Given the description of an element on the screen output the (x, y) to click on. 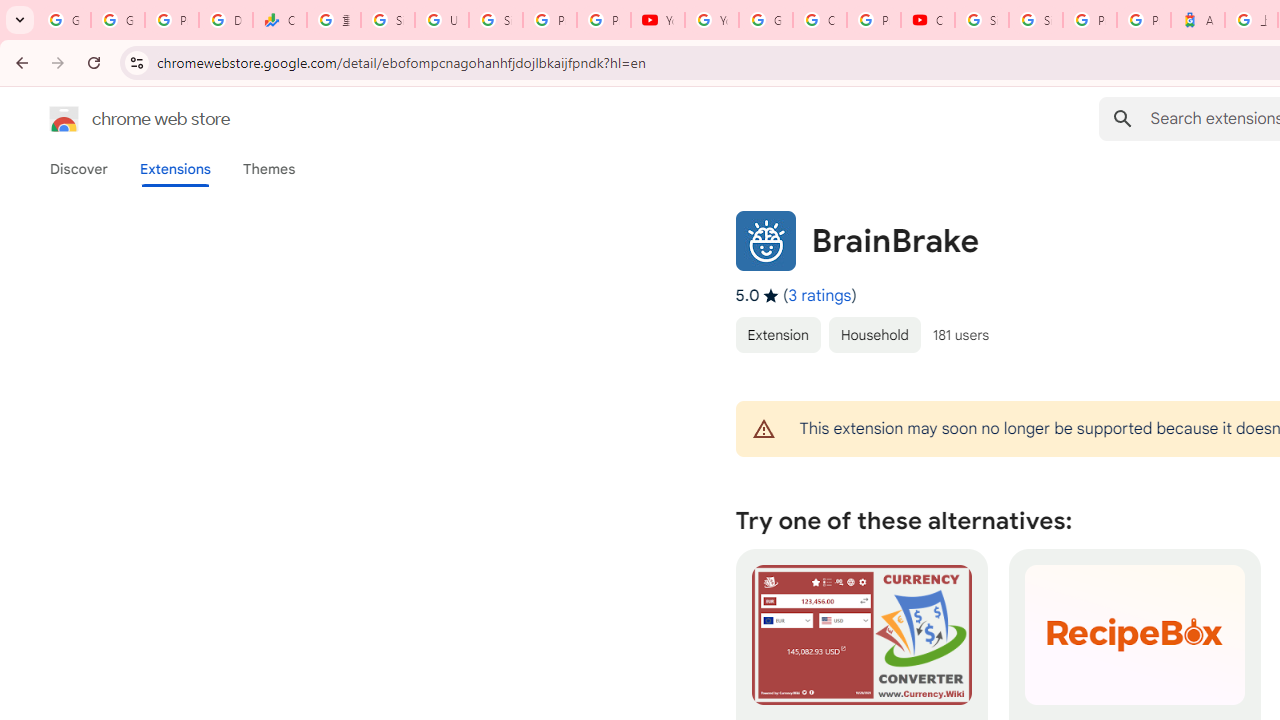
Chrome Web Store logo (63, 118)
Content Creator Programs & Opportunities - YouTube Creators (927, 20)
Sign in - Google Accounts (981, 20)
Item logo image for BrainBrake (765, 240)
Sign in - Google Accounts (1035, 20)
Google Account Help (765, 20)
Google Workspace Admin Community (63, 20)
